Given the description of an element on the screen output the (x, y) to click on. 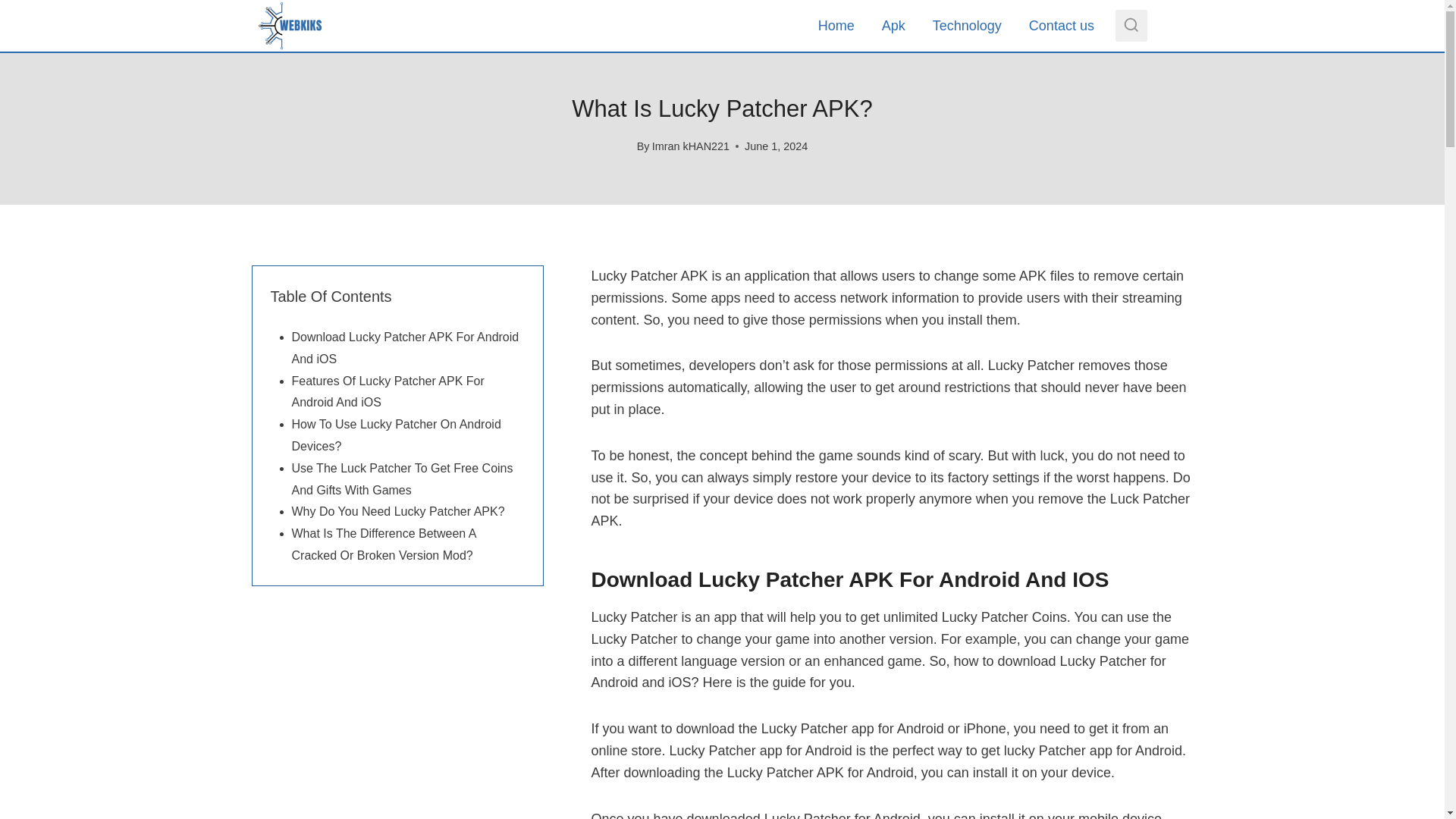
Apk (892, 25)
Home (836, 25)
Contact us (1061, 25)
Imran kHAN221 (690, 146)
Technology (966, 25)
